Given the description of an element on the screen output the (x, y) to click on. 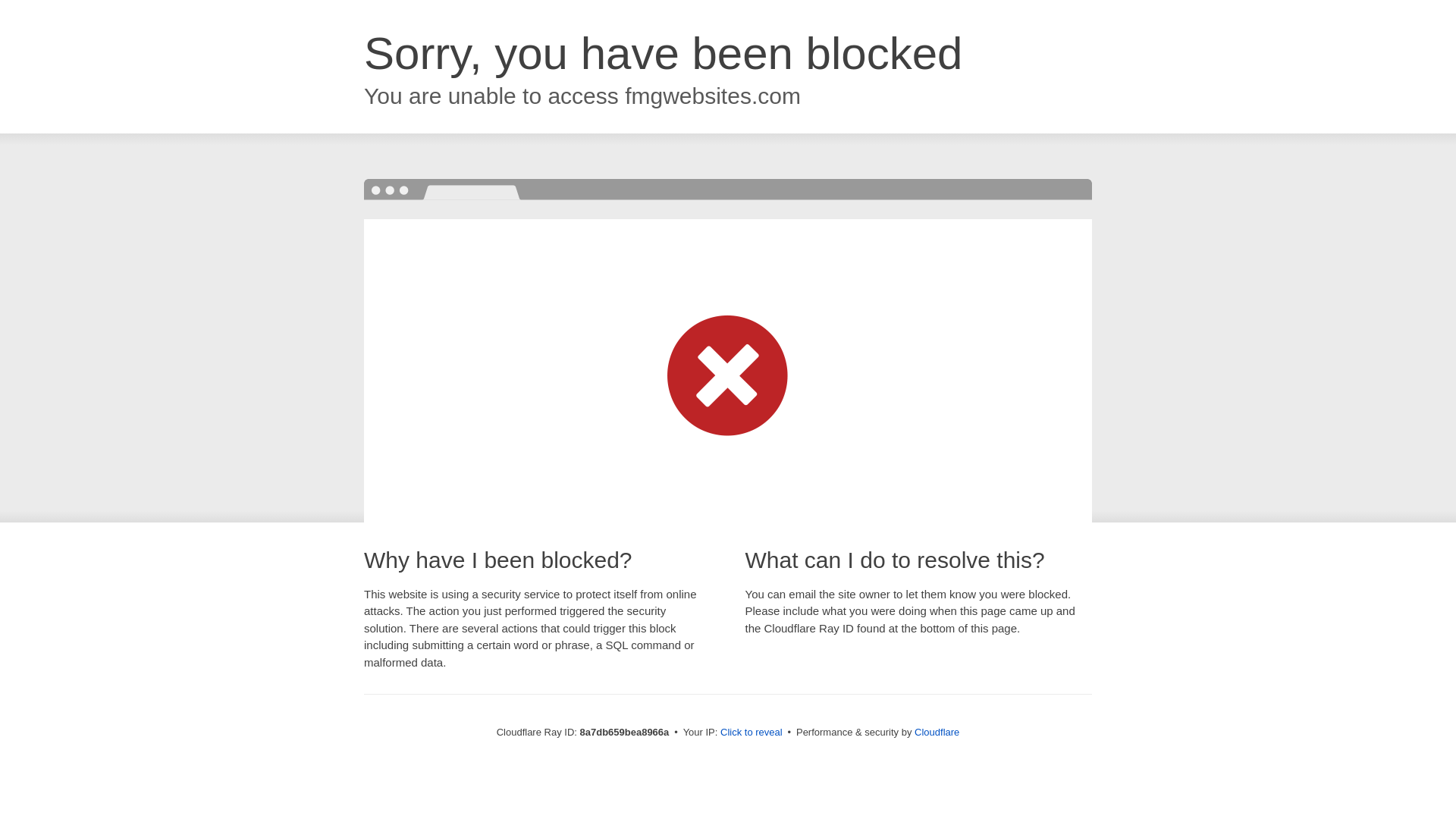
Cloudflare (936, 731)
Click to reveal (751, 732)
